Given the description of an element on the screen output the (x, y) to click on. 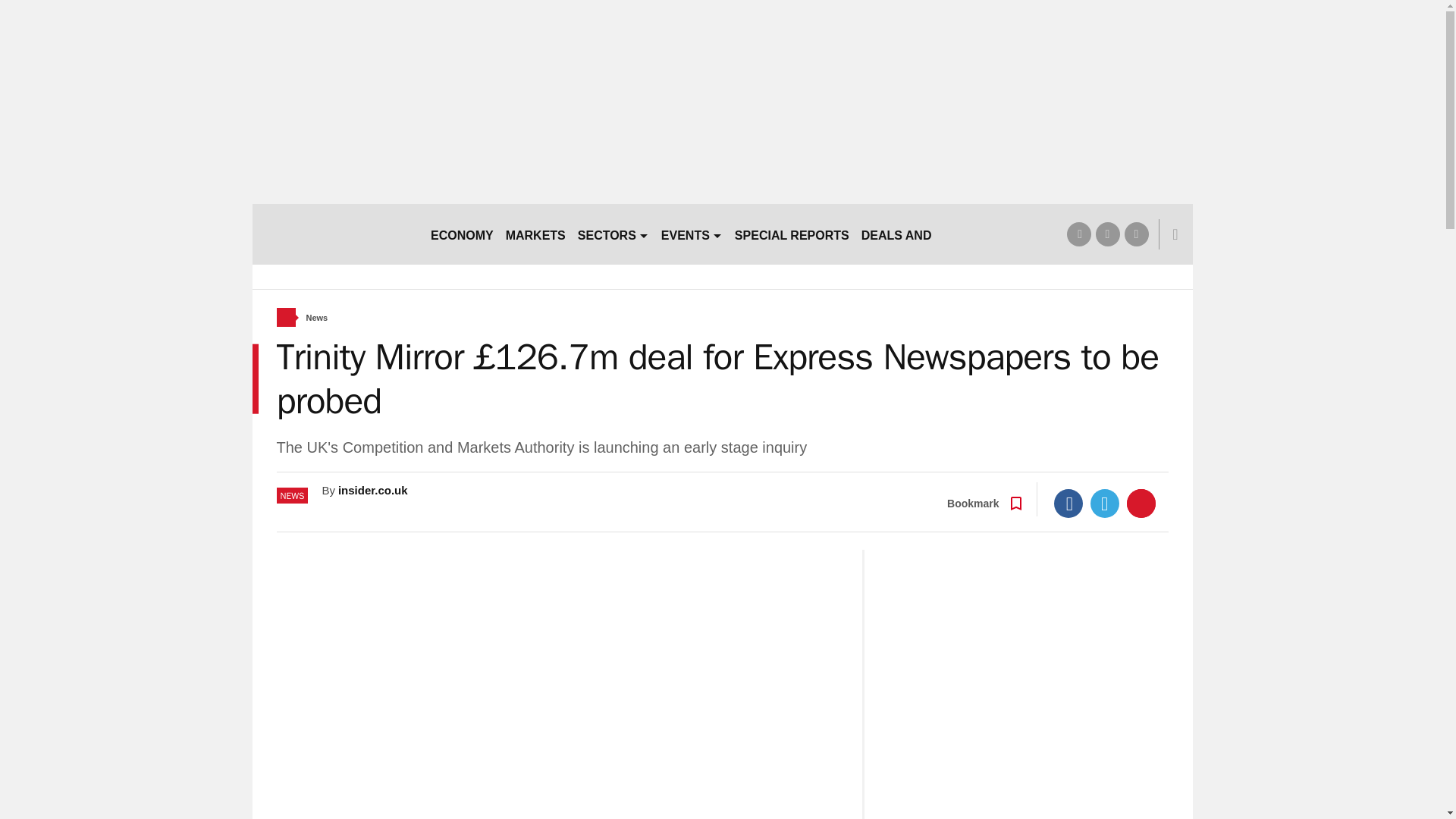
linkedin (1136, 233)
DEALS AND DEALMAKERS (941, 233)
SECTORS (613, 233)
SPECIAL REPORTS (792, 233)
Facebook (1068, 502)
MARKETS (535, 233)
ECONOMY (462, 233)
EVENTS (692, 233)
Twitter (1104, 502)
businessInsider (333, 233)
twitter (1106, 233)
facebook (1077, 233)
